Given the description of an element on the screen output the (x, y) to click on. 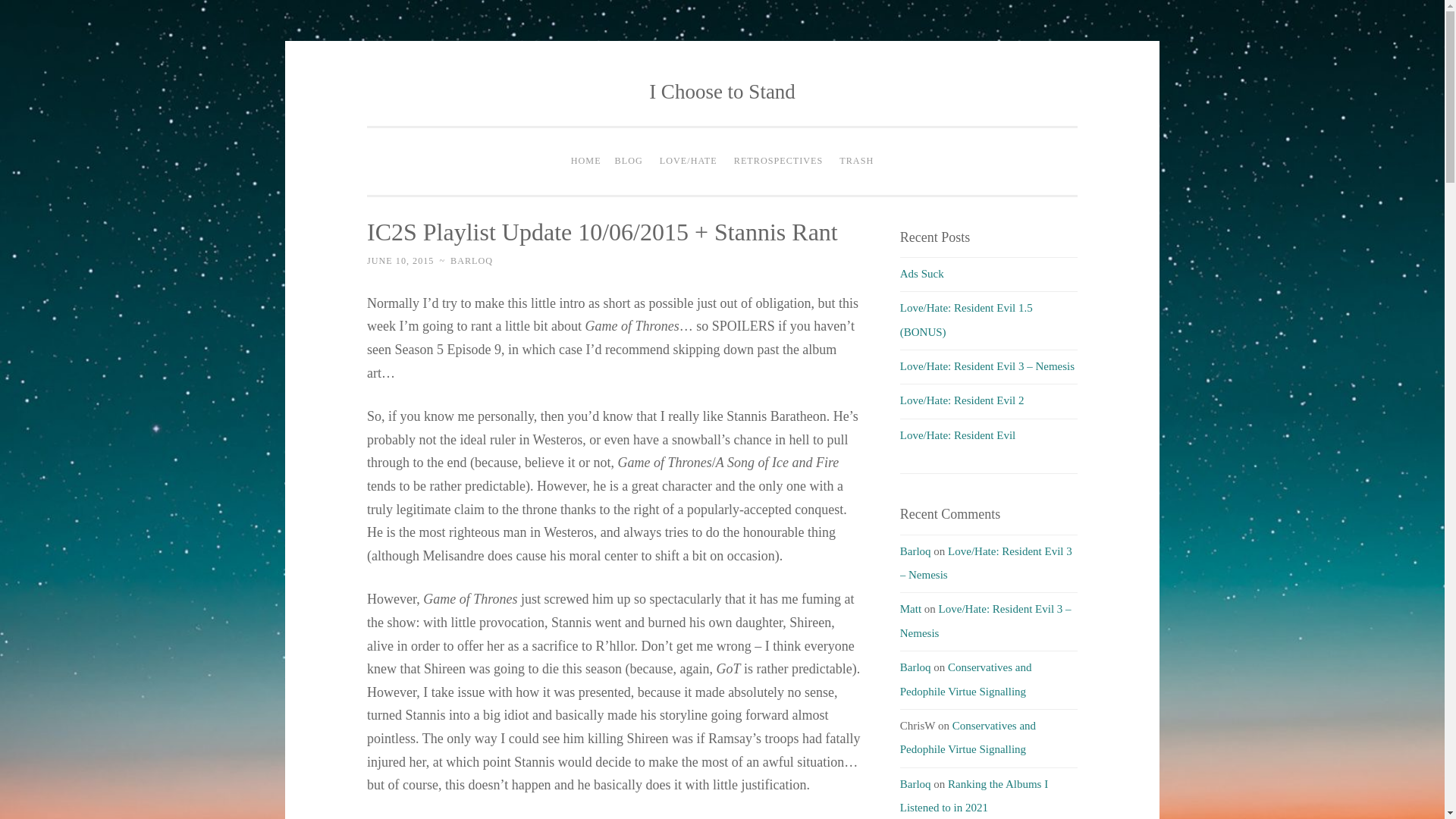
HOME (586, 161)
TRASH (856, 161)
Ads Suck (921, 273)
RETROSPECTIVES (777, 161)
JUNE 10, 2015 (399, 260)
I Choose to Stand (721, 91)
Matt (910, 608)
BLOG (628, 161)
Barloq (915, 551)
BARLOQ (471, 260)
